Given the description of an element on the screen output the (x, y) to click on. 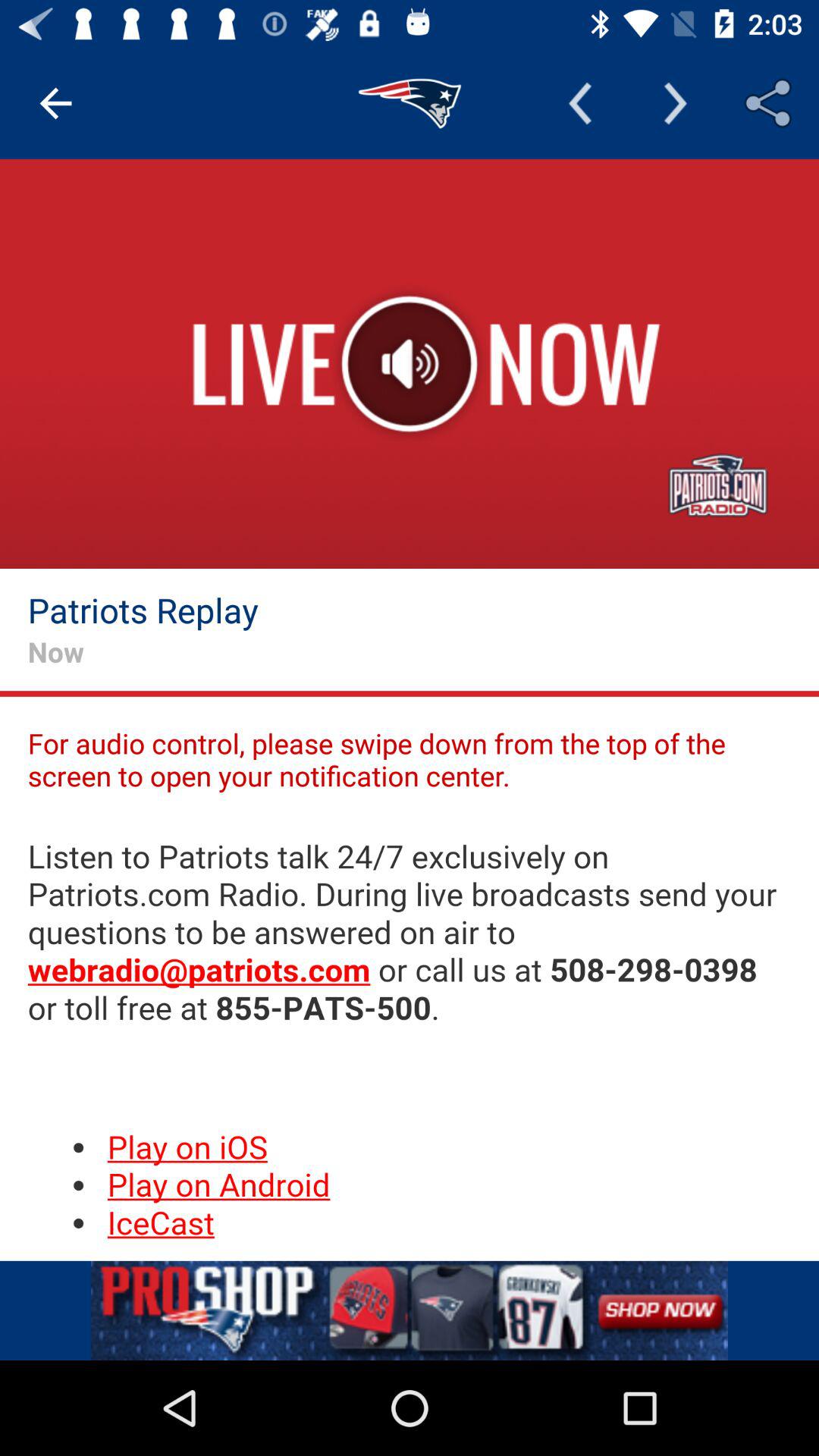
go to play option (409, 363)
